Given the description of an element on the screen output the (x, y) to click on. 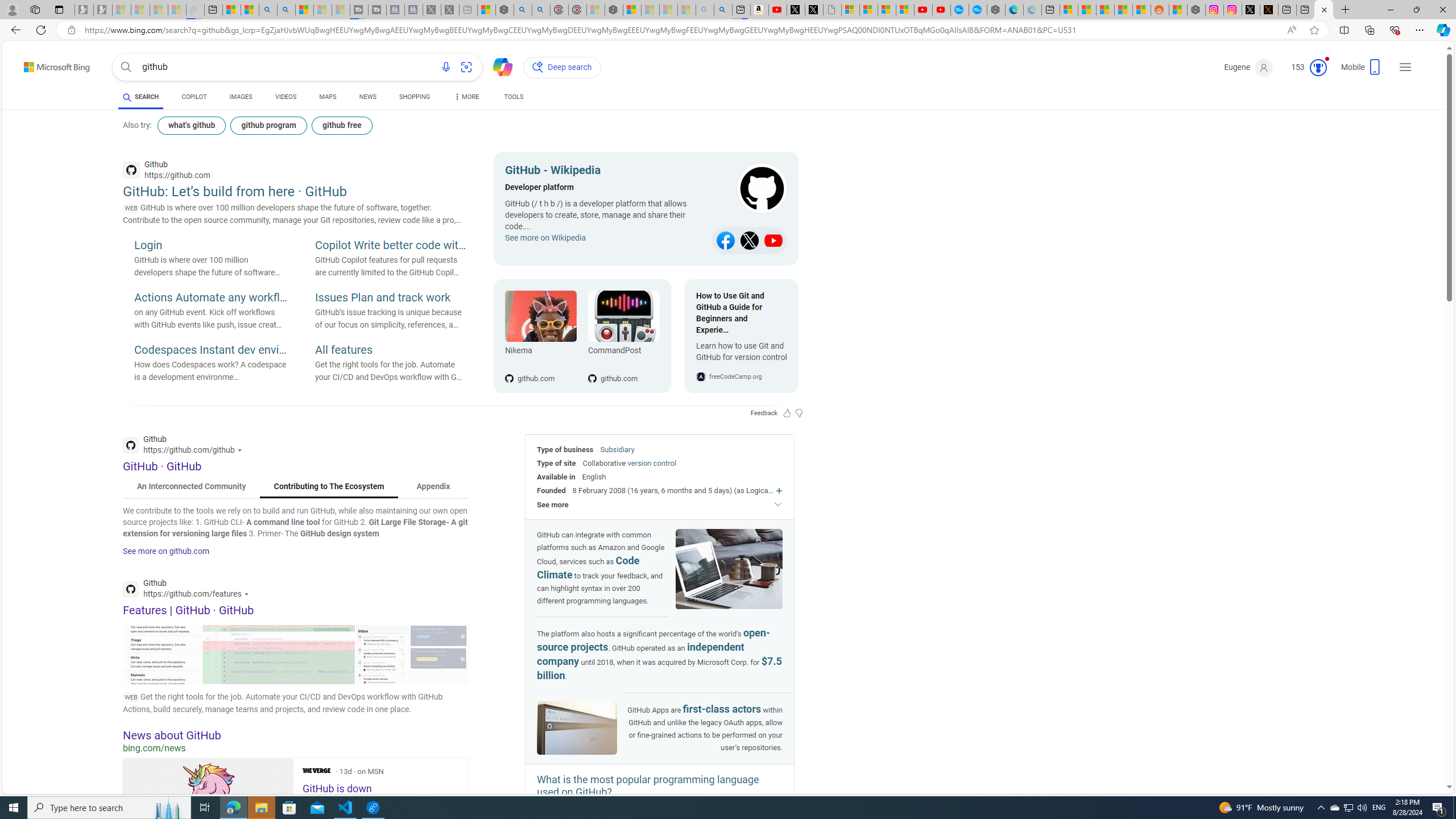
poe - Search (523, 9)
Available in (556, 476)
CommandPost (623, 352)
poe ++ standard - Search (540, 9)
IMAGES (240, 98)
Eugene (1249, 67)
TOOLS (512, 98)
